Given the description of an element on the screen output the (x, y) to click on. 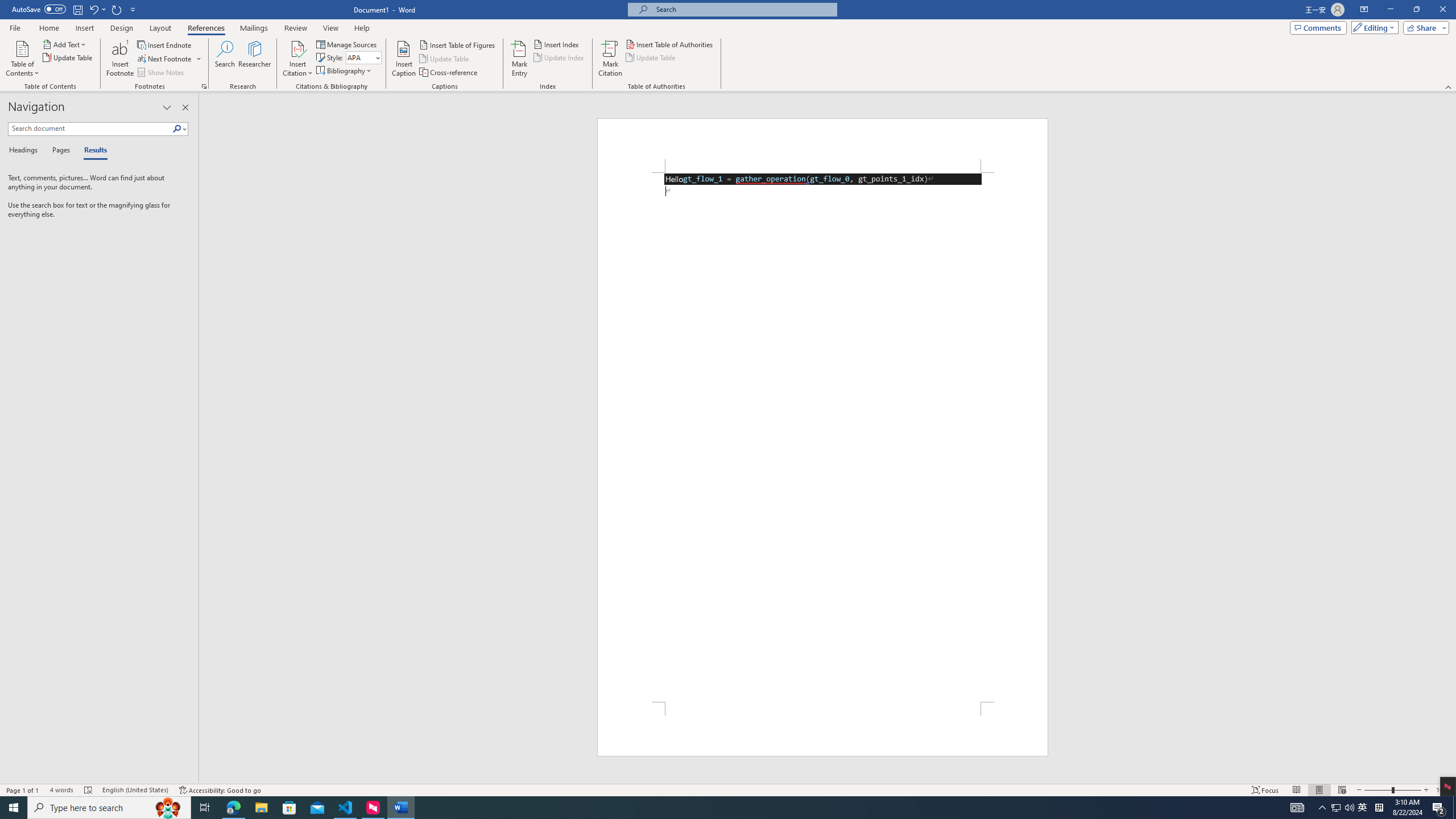
Results (91, 150)
Insert Endnote (165, 44)
Web Layout (1342, 790)
Search document (89, 128)
Zoom Out (1377, 790)
Customize Quick Access Toolbar (133, 9)
Insert Caption... (403, 58)
Close pane (185, 107)
Mode (1372, 27)
View (330, 28)
Insert (83, 28)
Mark Entry... (519, 58)
Share (1423, 27)
